Given the description of an element on the screen output the (x, y) to click on. 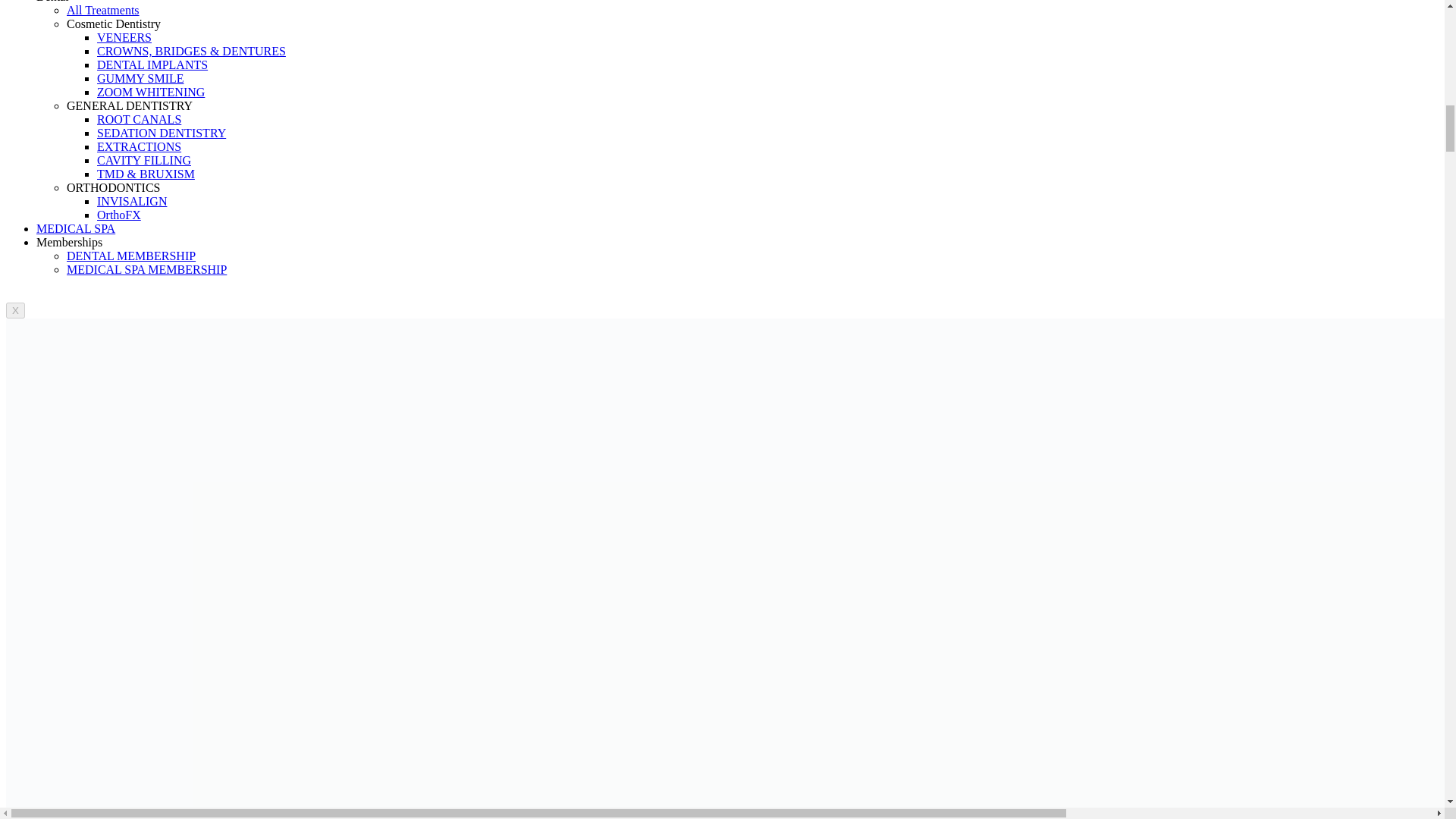
ZOOM WHITENING (151, 91)
All Treatments (102, 10)
MEDICAL SPA (75, 228)
GUMMY SMILE (140, 78)
MEDICAL SPA MEMBERSHIP (146, 269)
Dental (52, 1)
ROOT CANALS (138, 119)
DENTAL MEMBERSHIP (130, 255)
X (14, 310)
SEDATION DENTISTRY (161, 132)
